Given the description of an element on the screen output the (x, y) to click on. 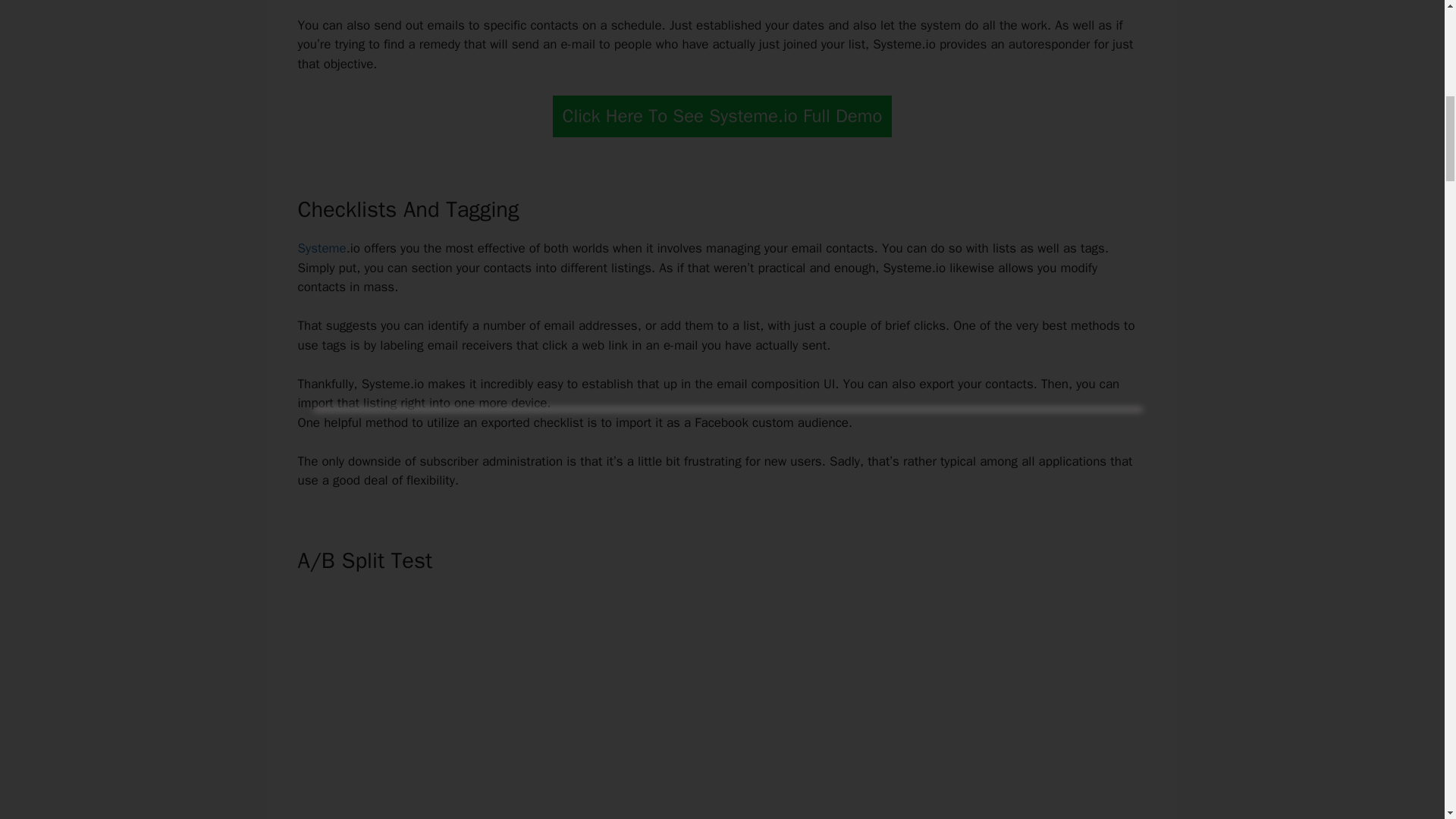
Systeme (321, 248)
Click Here To See Systeme.io Full Demo (722, 116)
Scroll back to top (1406, 720)
